Given the description of an element on the screen output the (x, y) to click on. 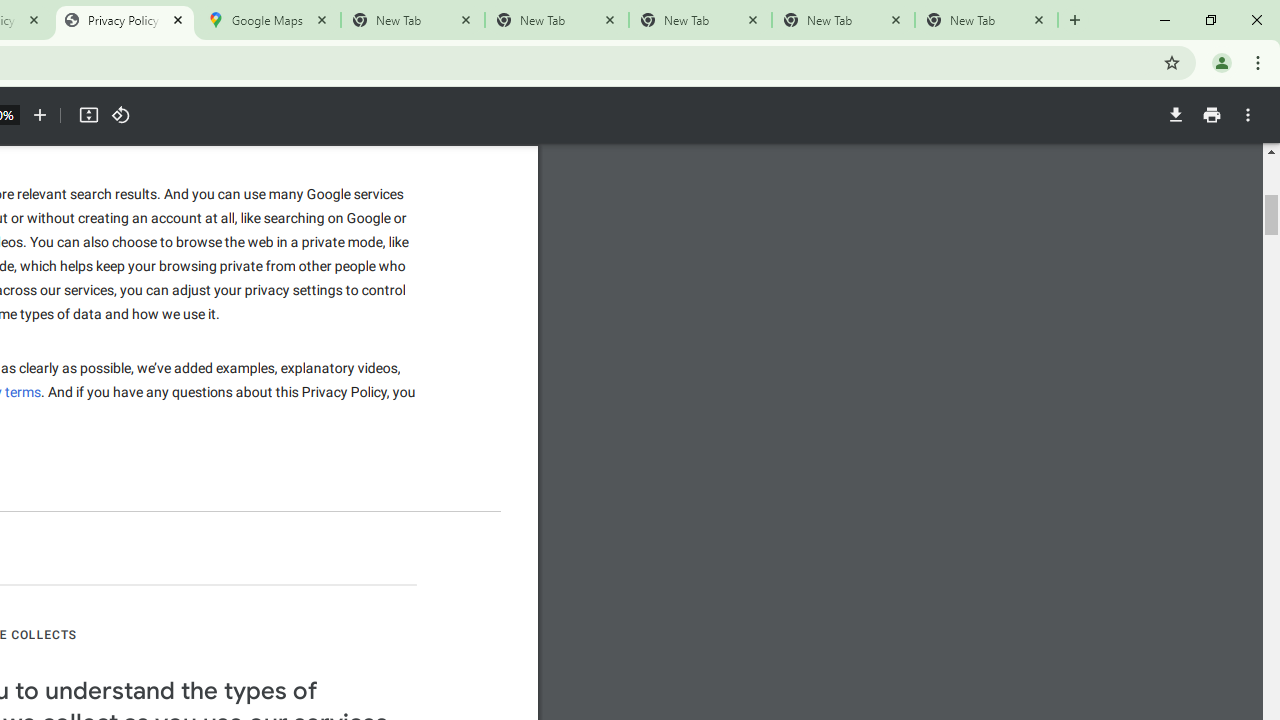
More actions (1247, 115)
